Given the description of an element on the screen output the (x, y) to click on. 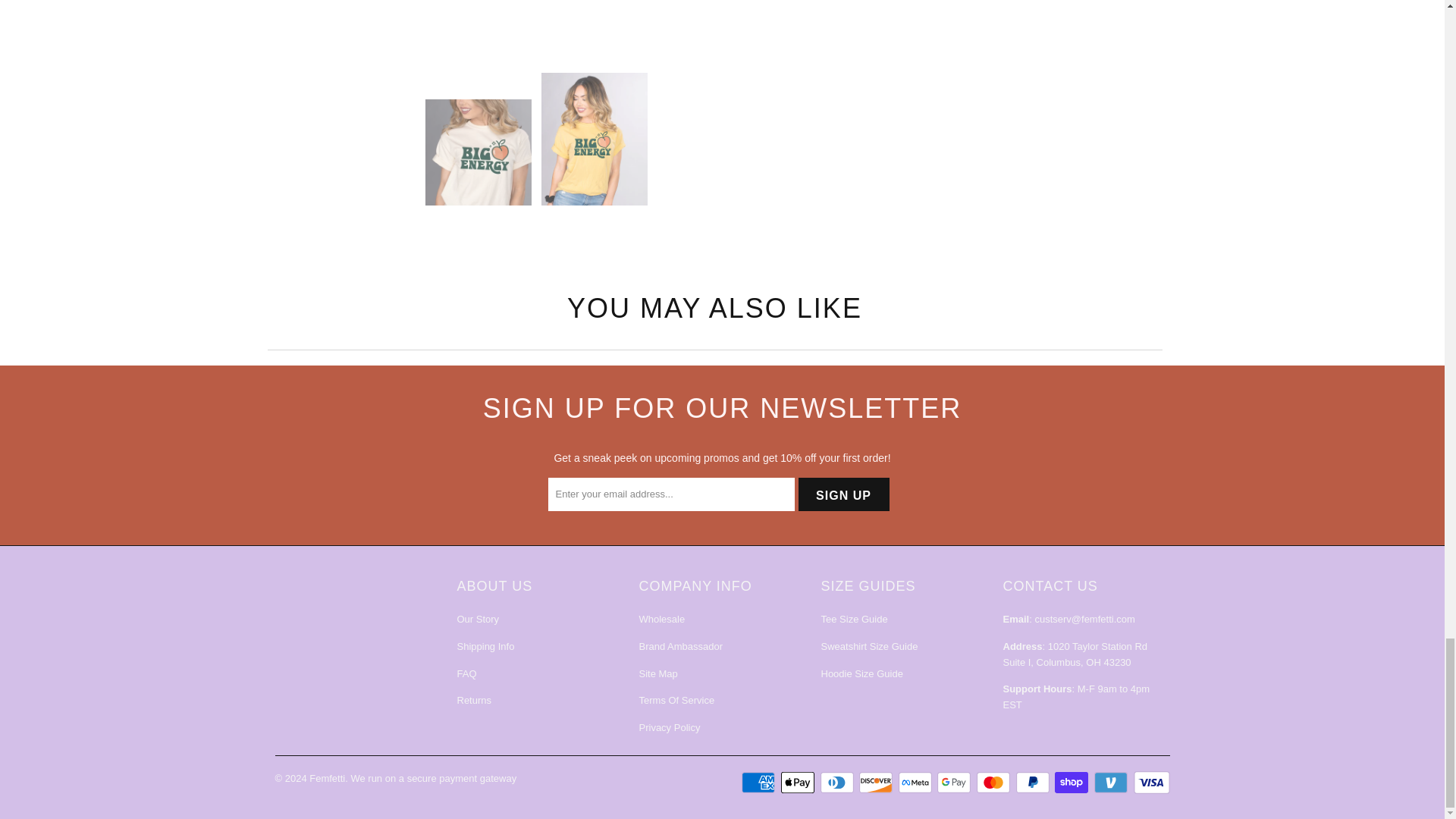
Femfetti Contact Us (1083, 618)
Mastercard (994, 782)
Google Pay (955, 782)
Sign Up (842, 494)
Meta Pay (916, 782)
PayPal (1034, 782)
Visa (1150, 782)
Venmo (1112, 782)
Shop Pay (1072, 782)
Discover (877, 782)
